Given the description of an element on the screen output the (x, y) to click on. 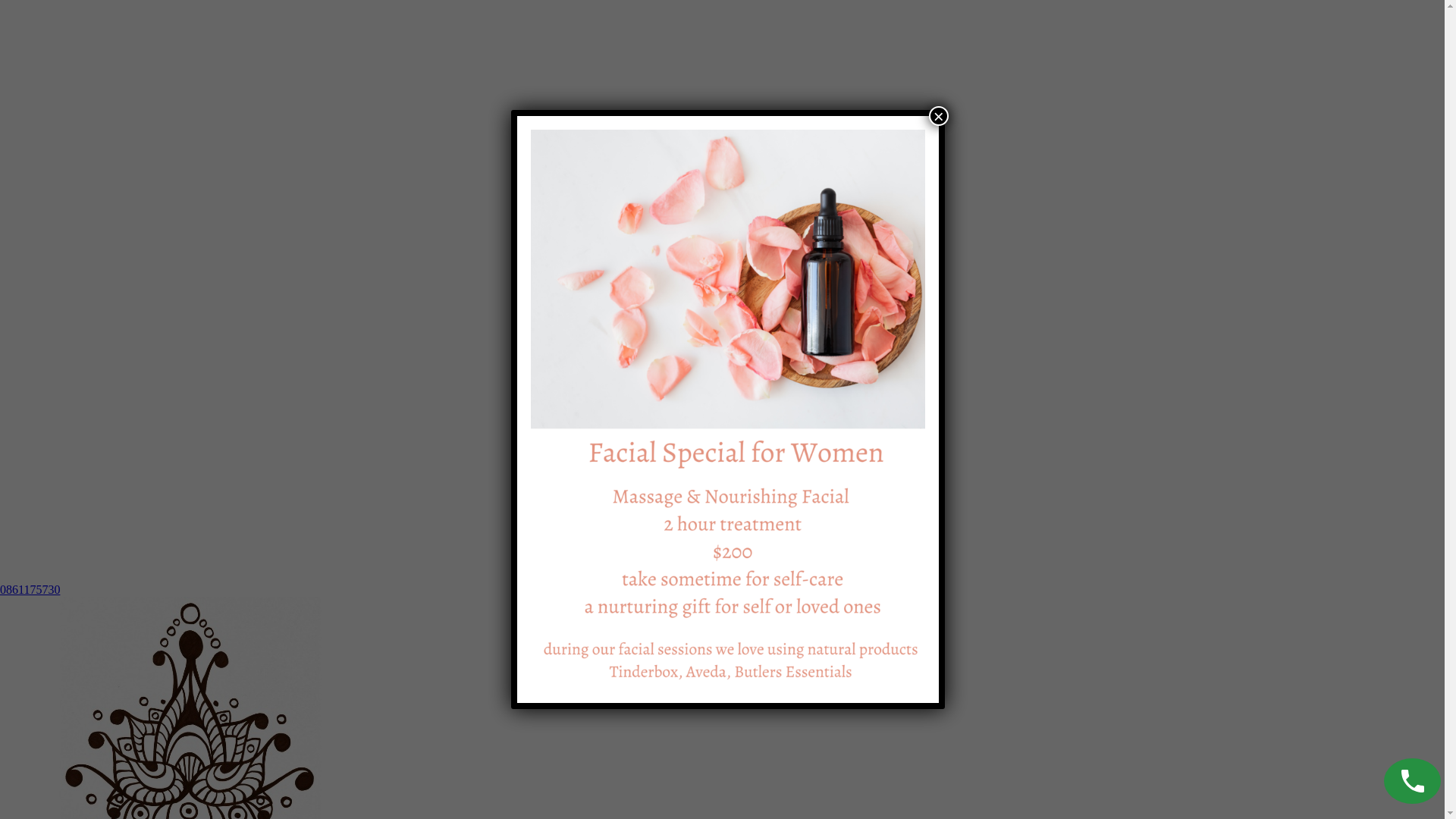
0861175730 Element type: text (29, 589)
